Given the description of an element on the screen output the (x, y) to click on. 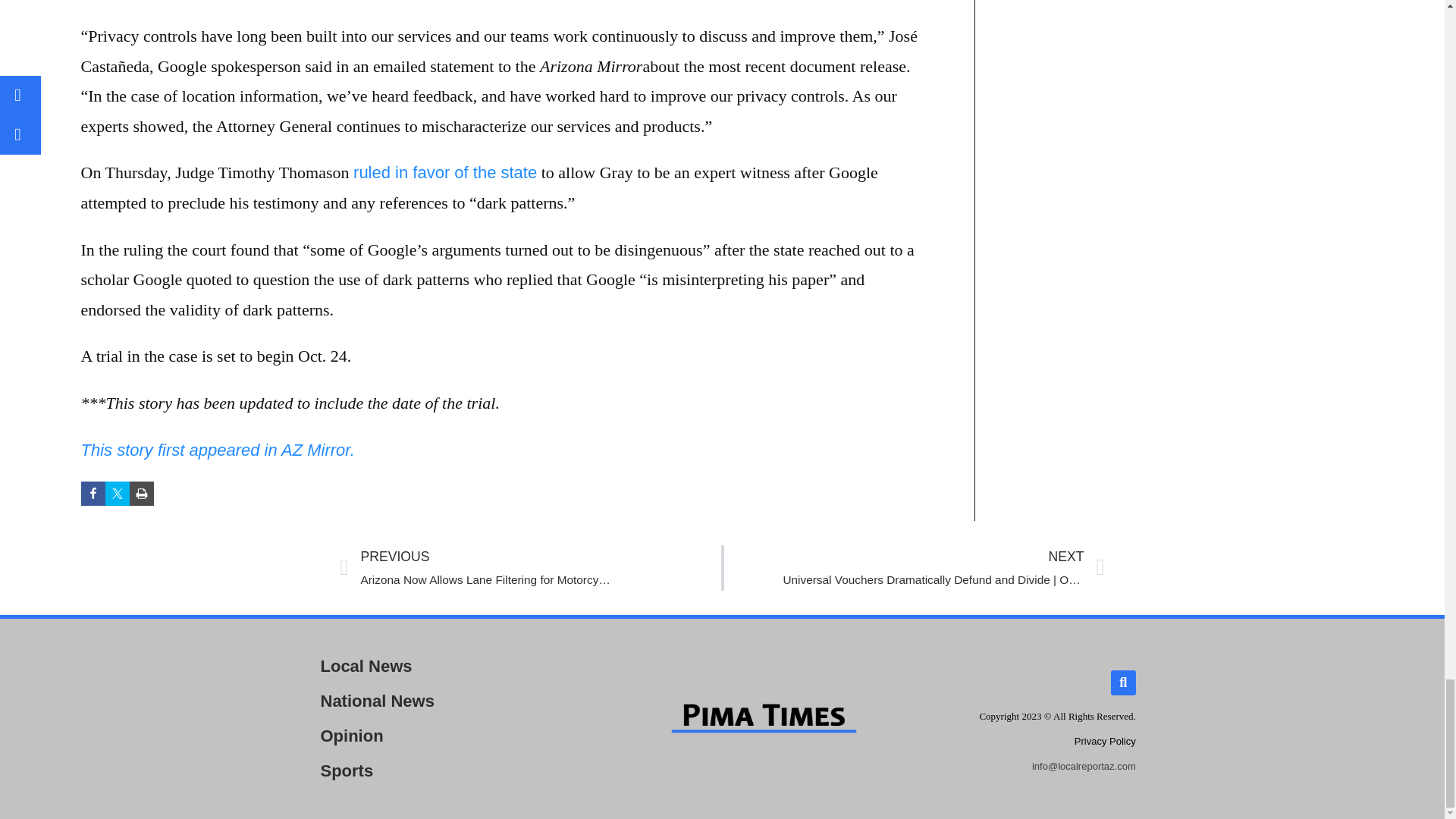
Share on Twitter (116, 493)
This story first appeared in AZ Mirror. (216, 448)
Print this Page (140, 493)
ruled in favor of the state (445, 171)
Share on Facebook (92, 493)
